Given the description of an element on the screen output the (x, y) to click on. 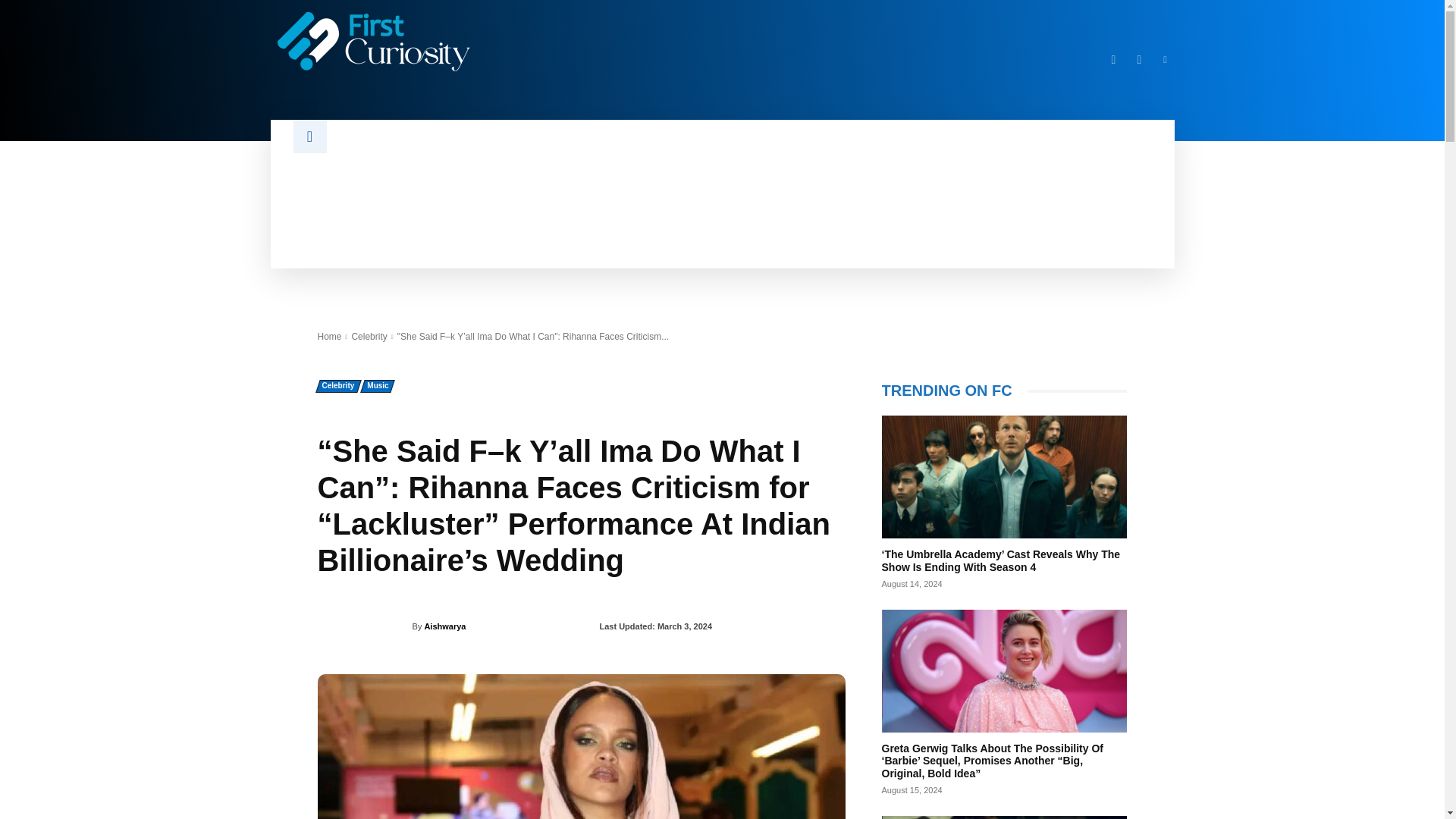
Celebrity (368, 336)
Facebook (1112, 59)
Home (328, 336)
Twitter (1138, 59)
Linkedin (1164, 59)
View all posts in Celebrity (368, 336)
